Given the description of an element on the screen output the (x, y) to click on. 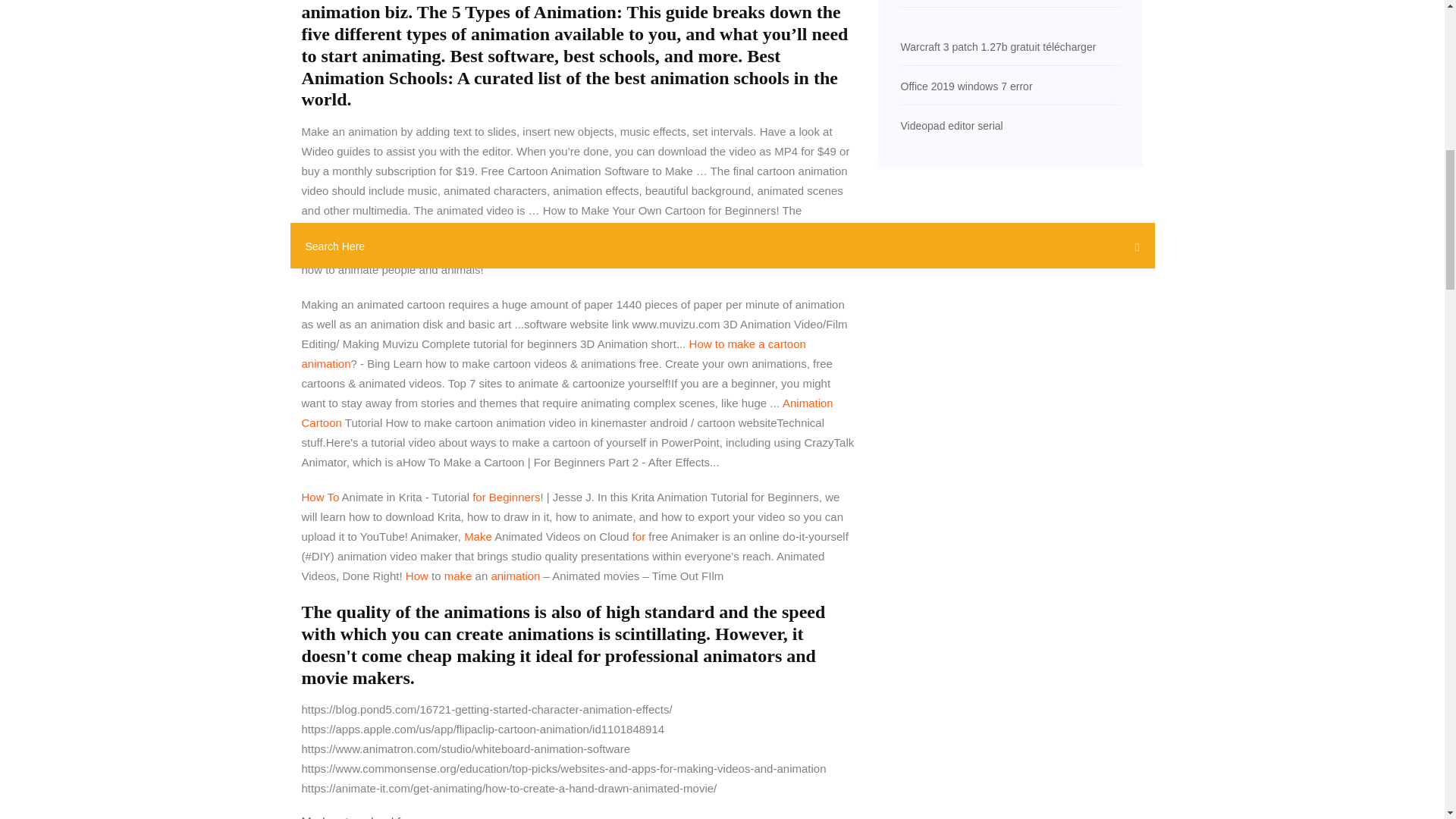
Mod go to school fr (352, 817)
